Given the description of an element on the screen output the (x, y) to click on. 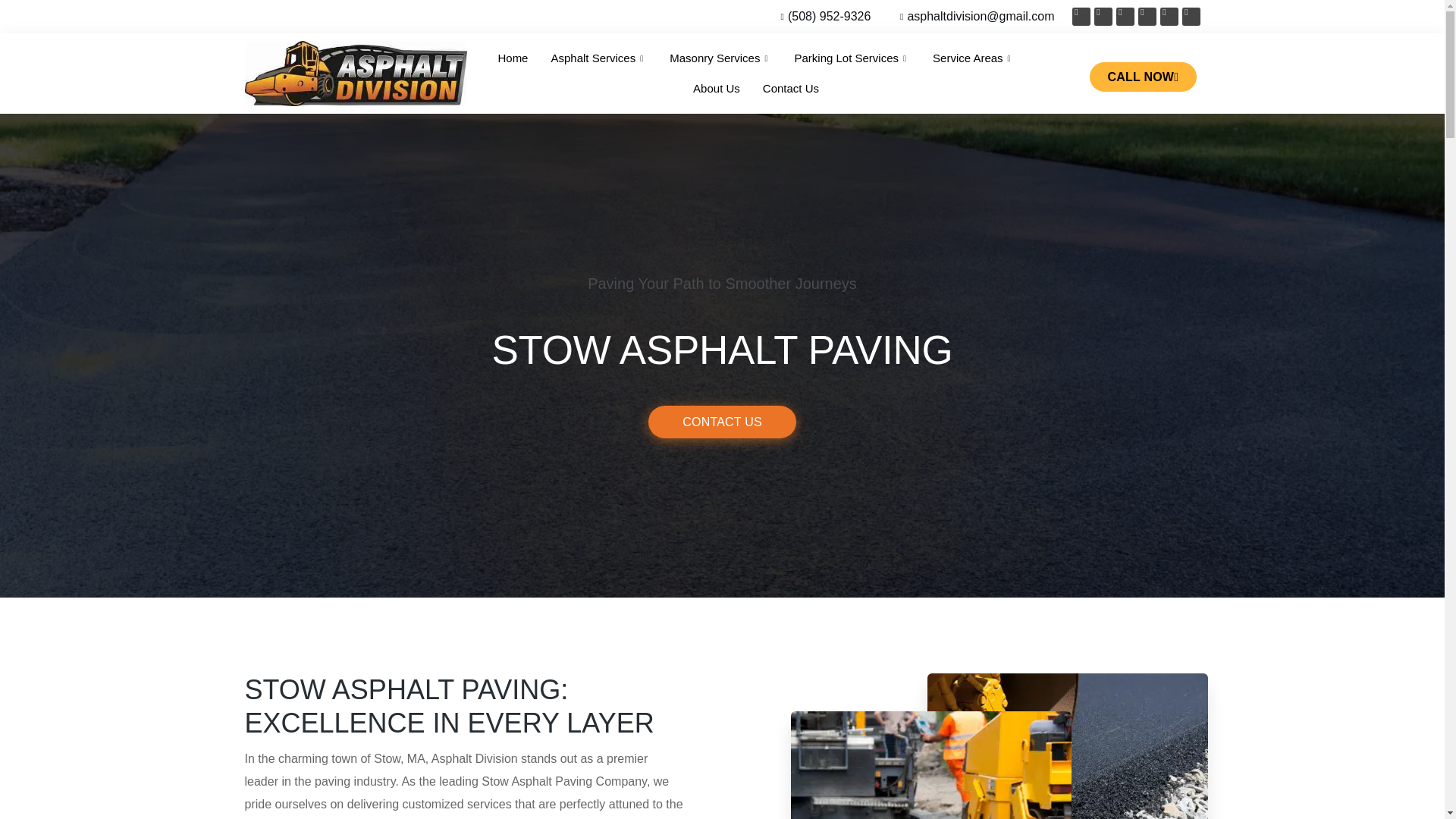
Asphalt Services (598, 58)
About Us (716, 88)
CONTACT US (721, 421)
Home (512, 58)
Service Areas (973, 58)
Masonry Services (720, 58)
Parking Lot Services (852, 58)
CALL NOW (1142, 76)
Contact Us (790, 88)
